Given the description of an element on the screen output the (x, y) to click on. 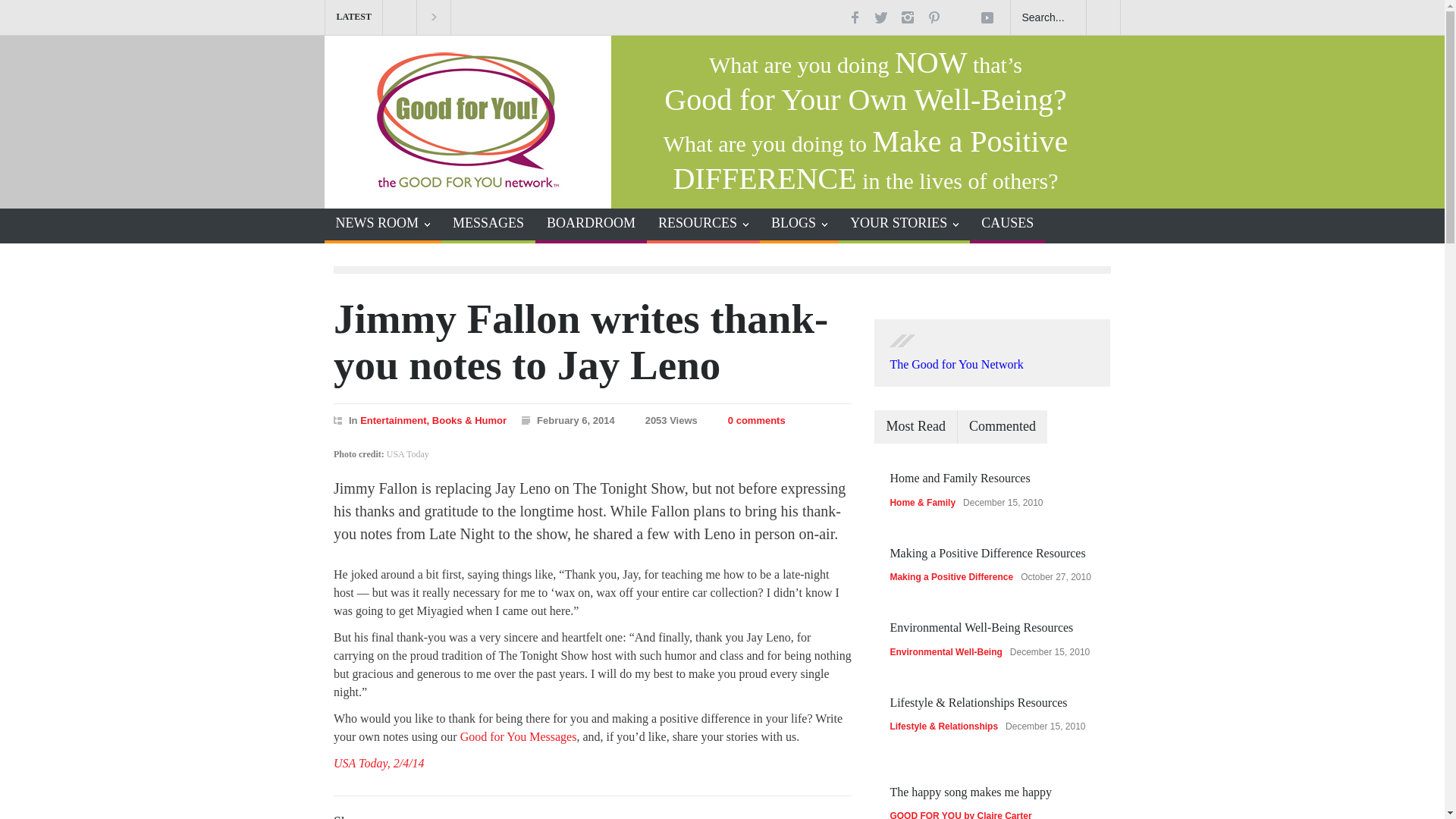
BLOGS (799, 224)
Jimmy Fallon writes thank-you notes to Jay Leno (580, 341)
MESSAGES (482, 224)
Search... (1048, 17)
NEWS ROOM (383, 224)
RESOURCES (703, 224)
NEWS ROOM (383, 224)
BOARDROOM (584, 224)
0 comments (757, 419)
Search... (1048, 17)
0 comments (749, 420)
